Given the description of an element on the screen output the (x, y) to click on. 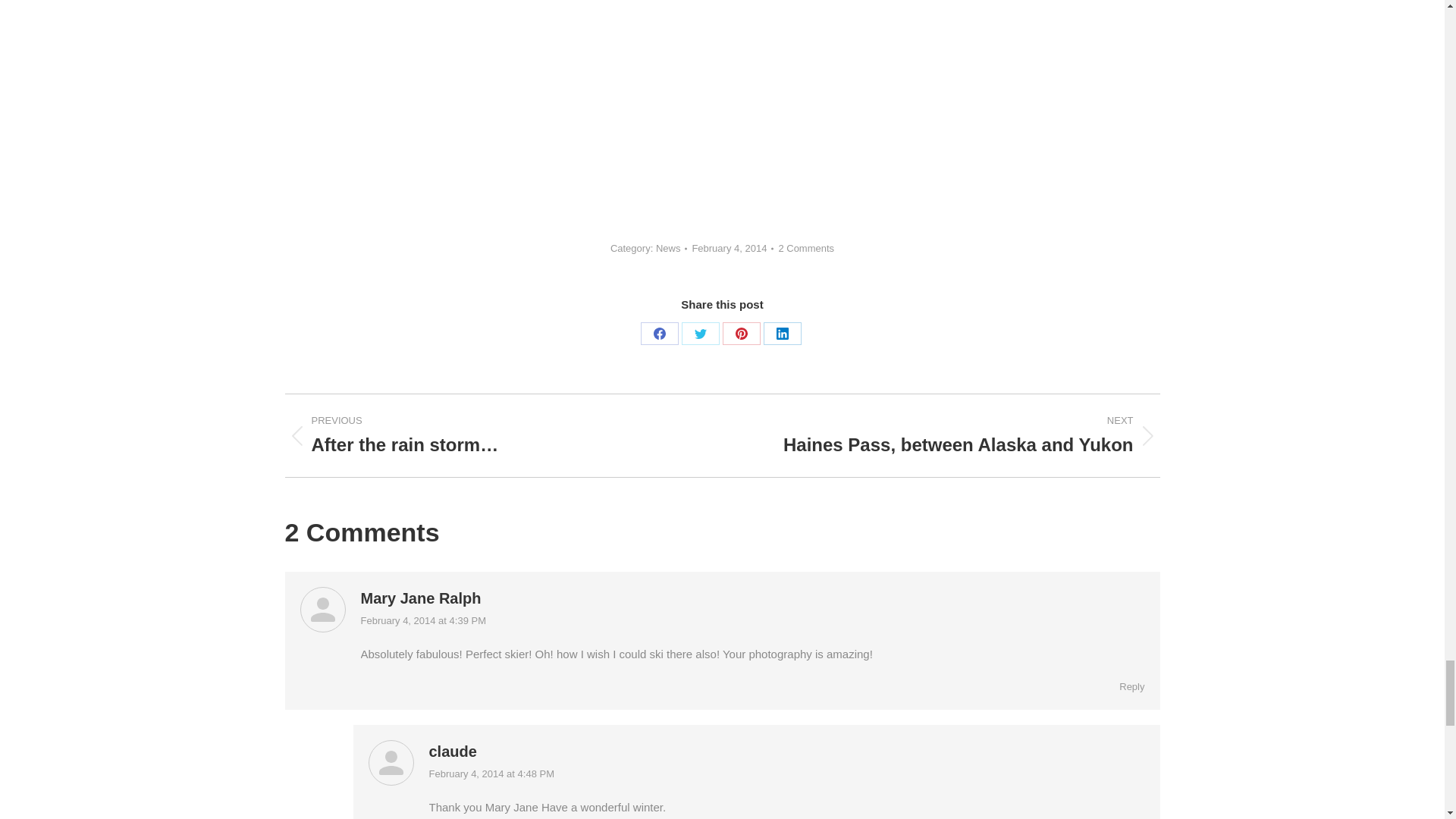
Facebook (659, 333)
Twitter (700, 333)
4:08 PM (732, 248)
Pinterest (741, 333)
LinkedIn (781, 333)
